Given the description of an element on the screen output the (x, y) to click on. 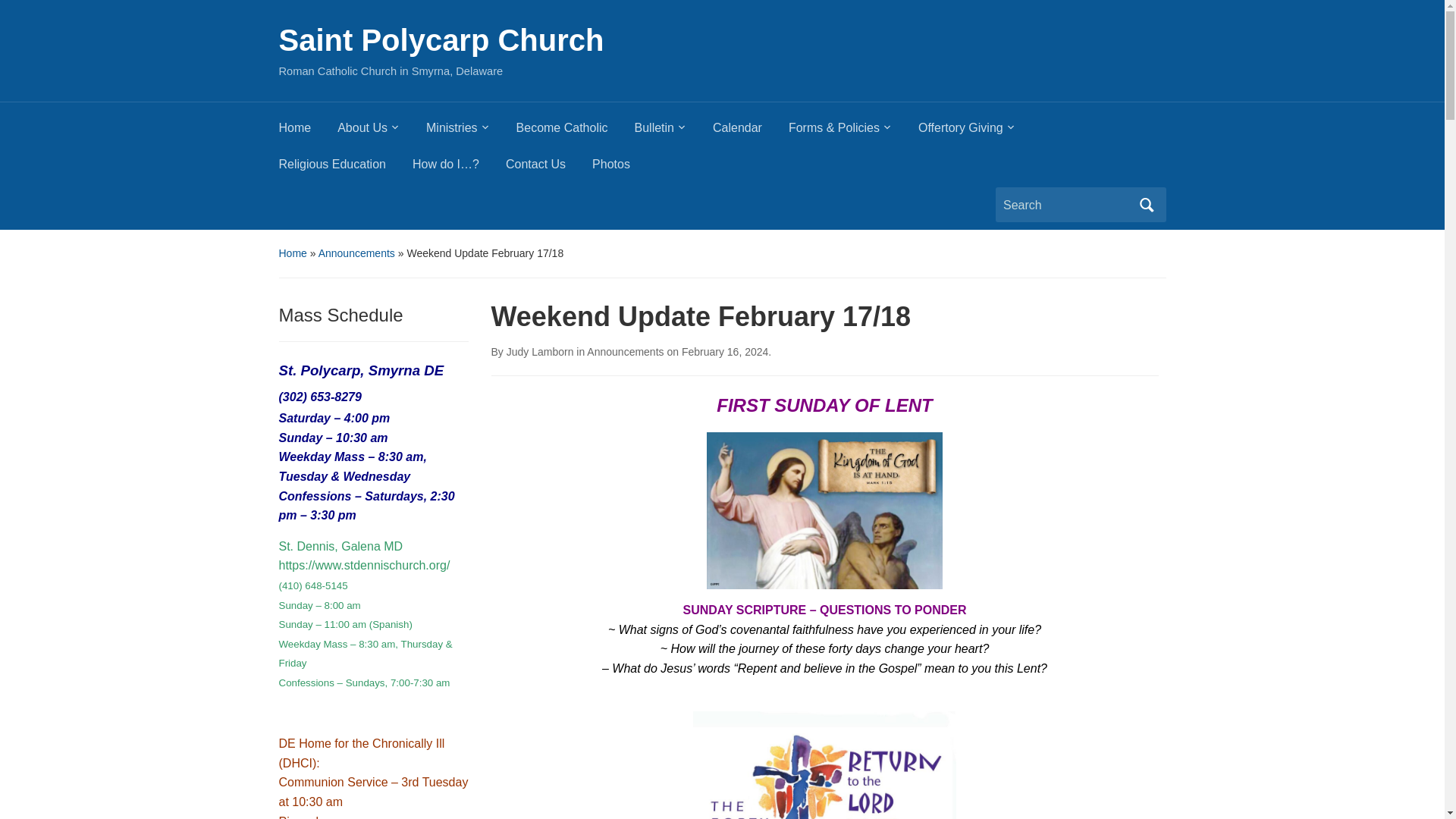
11:39 am (724, 351)
View all posts by Judy Lamborn (539, 351)
